Given the description of an element on the screen output the (x, y) to click on. 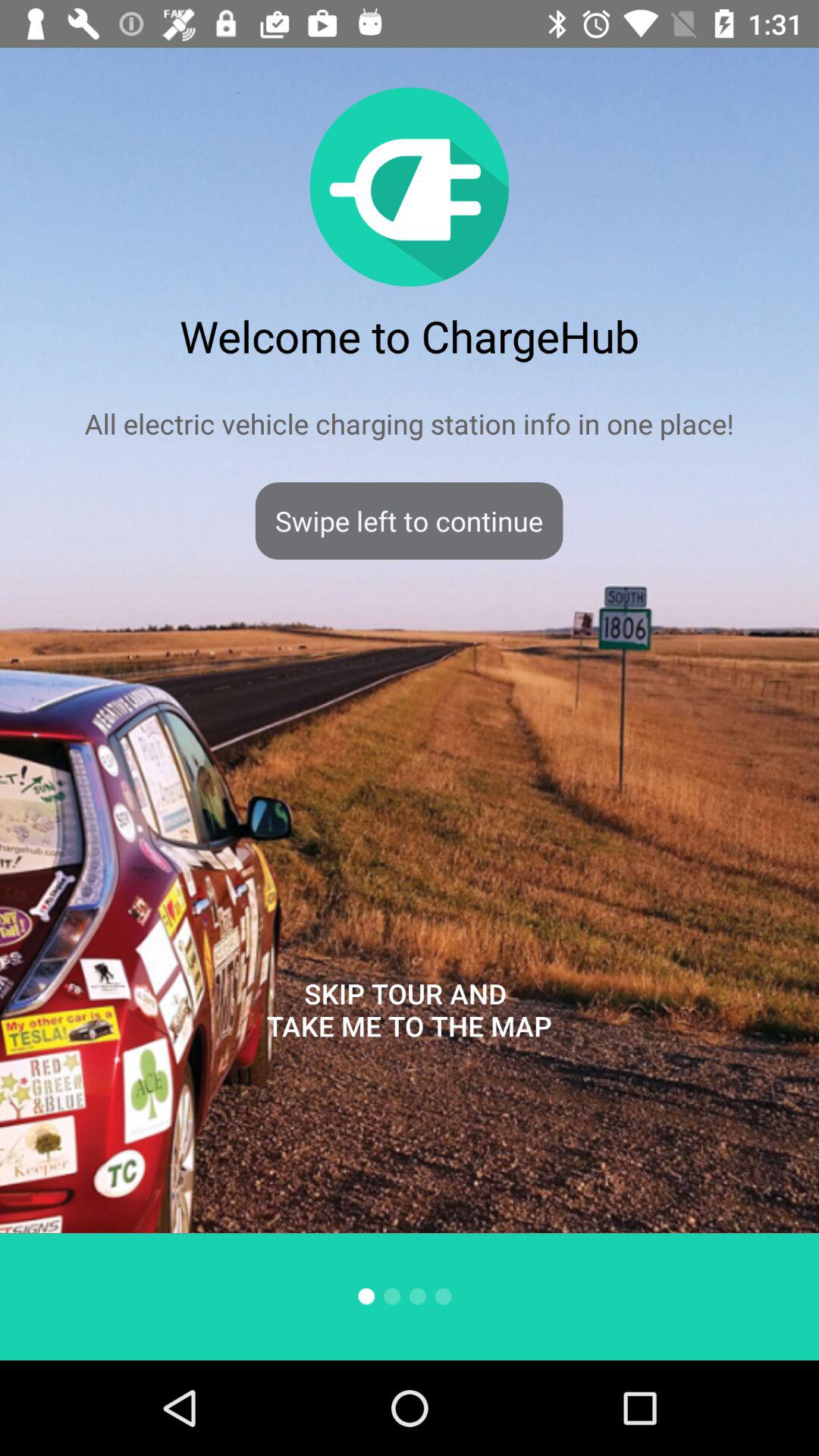
flip to skip tour and (408, 1009)
